Given the description of an element on the screen output the (x, y) to click on. 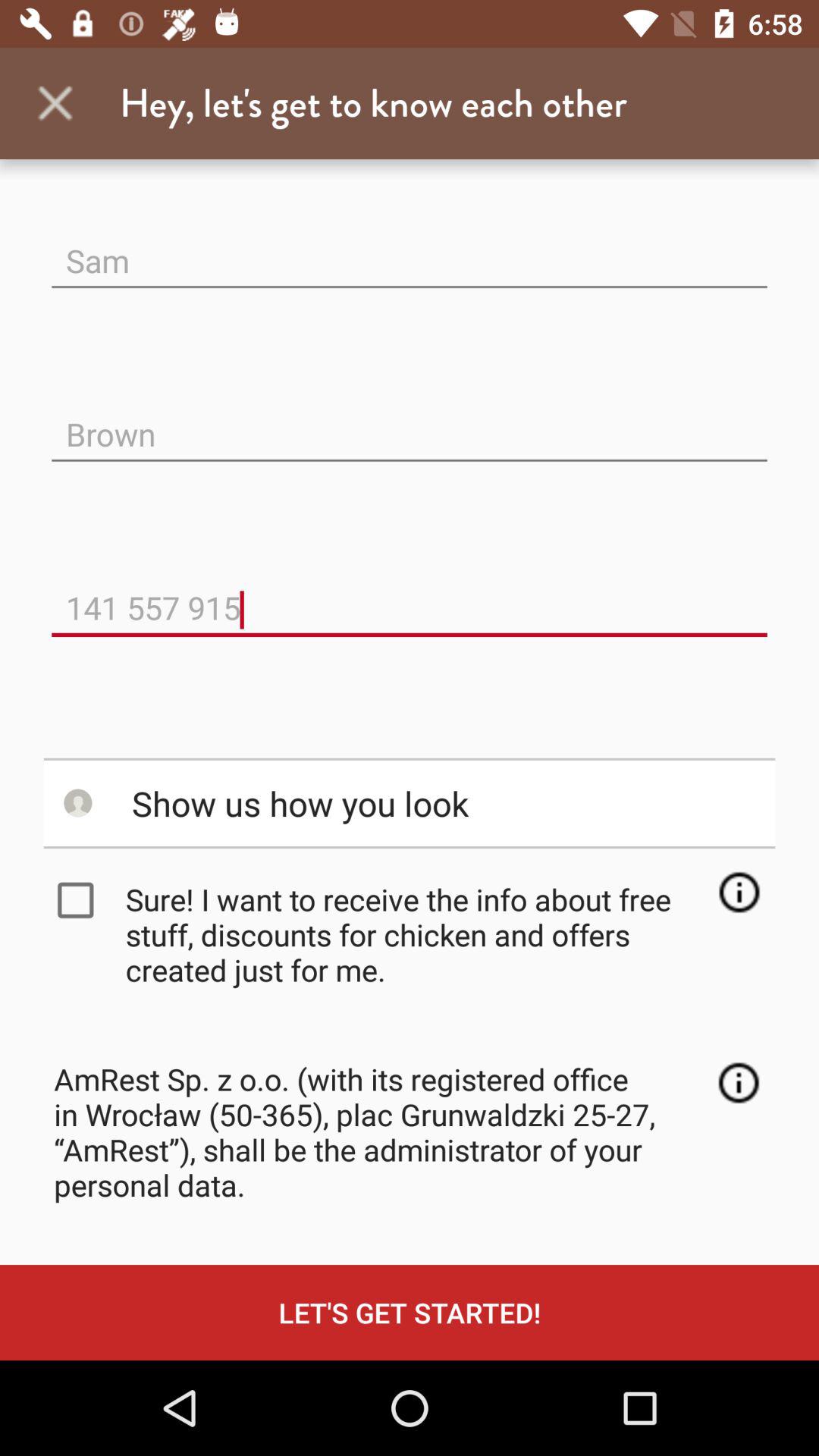
launch icon at the top left corner (55, 103)
